Given the description of an element on the screen output the (x, y) to click on. 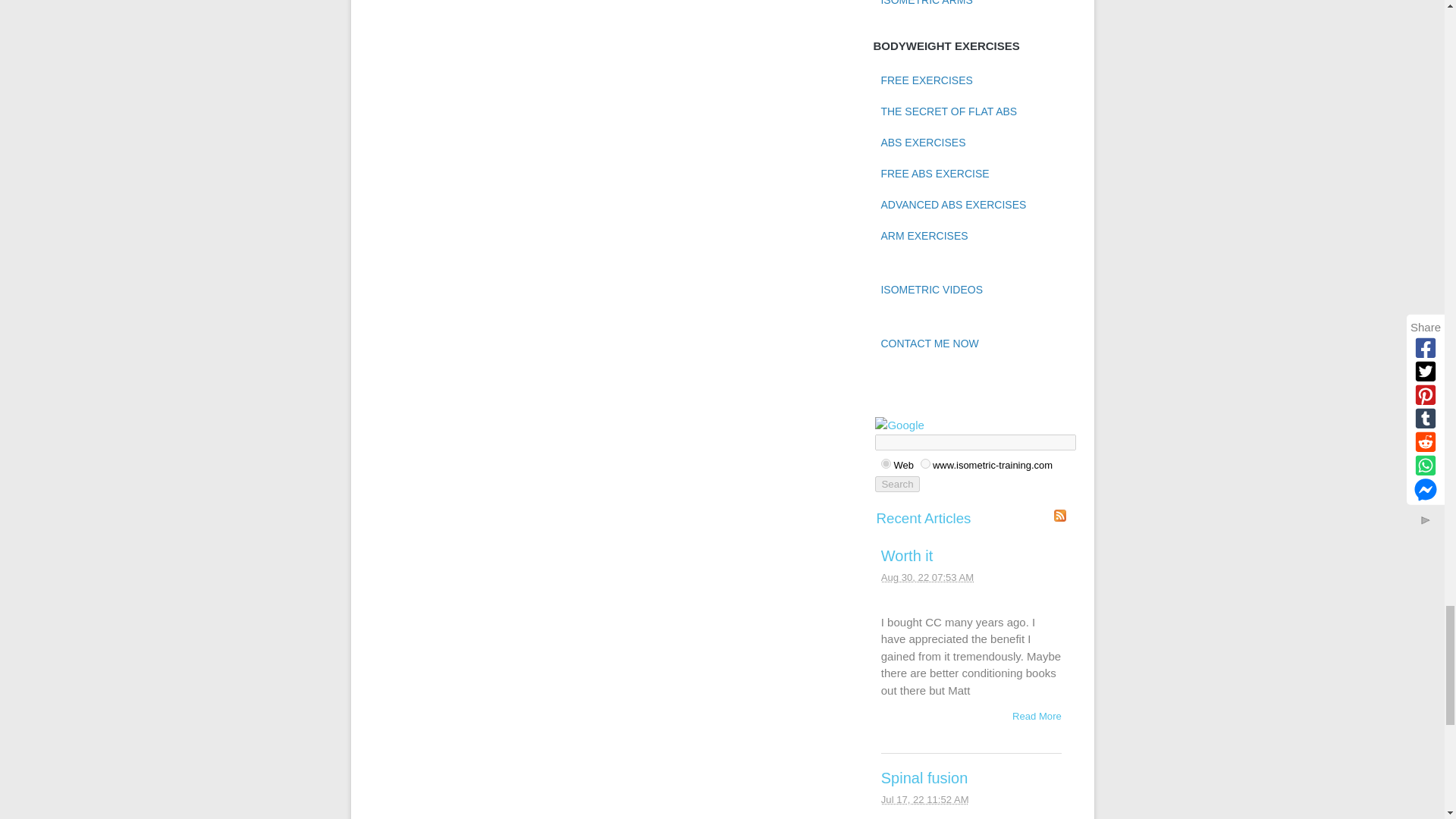
2022-08-30T07:53:59-0400 (927, 577)
www.isometric-training.com (925, 463)
Search (896, 483)
2022-07-17T11:52:36-0400 (924, 799)
